Given the description of an element on the screen output the (x, y) to click on. 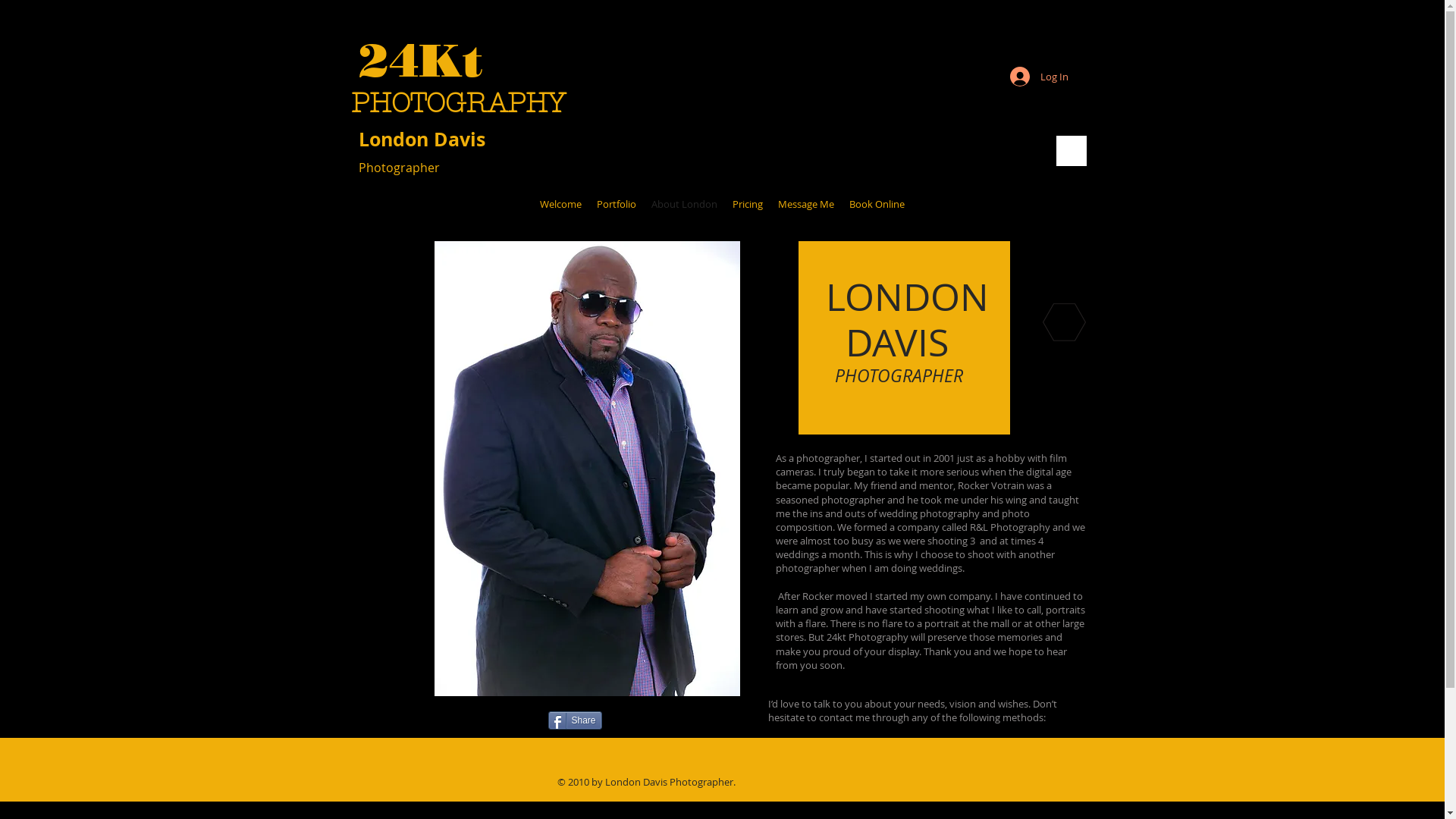
About London Element type: text (683, 203)
Log In Element type: text (1039, 76)
Welcome Element type: text (560, 203)
Portfolio Element type: text (616, 203)
Share Element type: text (574, 720)
Book Online Element type: text (876, 203)
Pricing Element type: text (747, 203)
Message Me Element type: text (805, 203)
IMG_3926[1].jpg Element type: hover (586, 468)
